Given the description of an element on the screen output the (x, y) to click on. 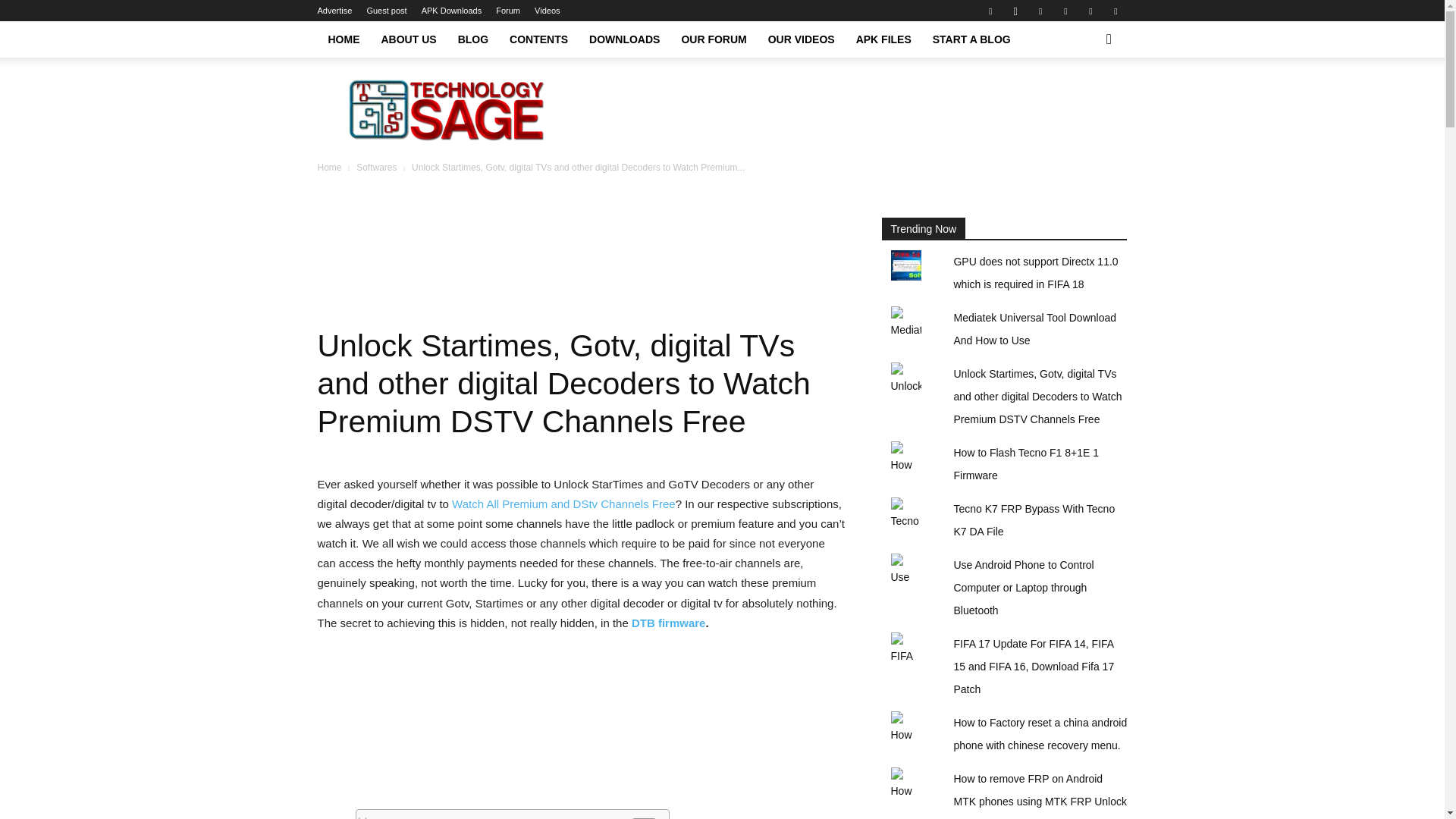
View all posts in Softwares (376, 167)
Videos (546, 10)
Guest post (386, 10)
Linkedin (1040, 10)
RSS (1065, 10)
Facebook (989, 10)
Instagram (1015, 10)
Twitter (1090, 10)
Advertise (334, 10)
Youtube (1114, 10)
